Given the description of an element on the screen output the (x, y) to click on. 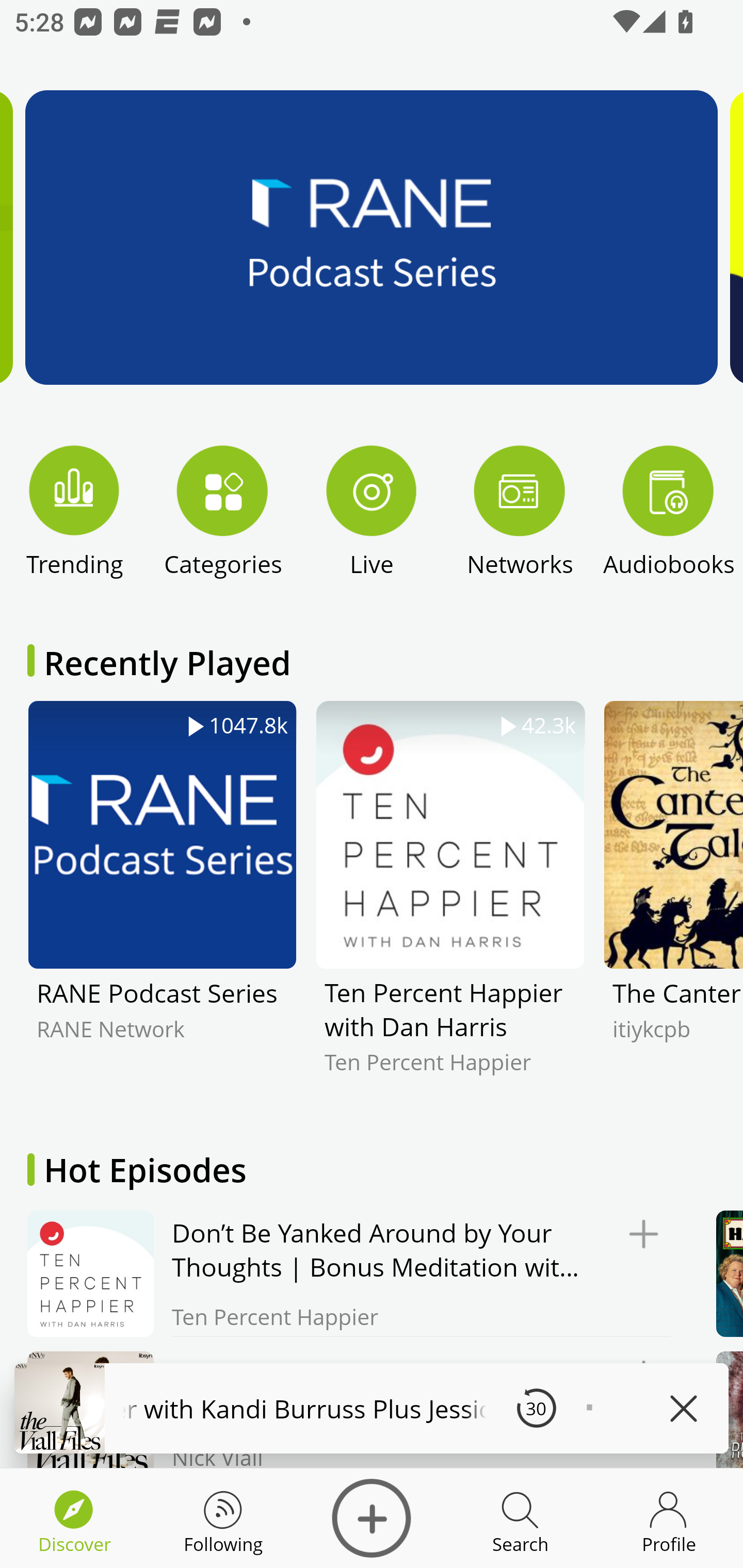
1047.8k RANE Podcast Series RANE Network (162, 902)
The Canterbury Tales itiykcpb (673, 902)
30 Seek Backward (536, 1407)
Discover Following (222, 1518)
Discover (371, 1518)
Discover Search (519, 1518)
Discover Profile (668, 1518)
